Given the description of an element on the screen output the (x, y) to click on. 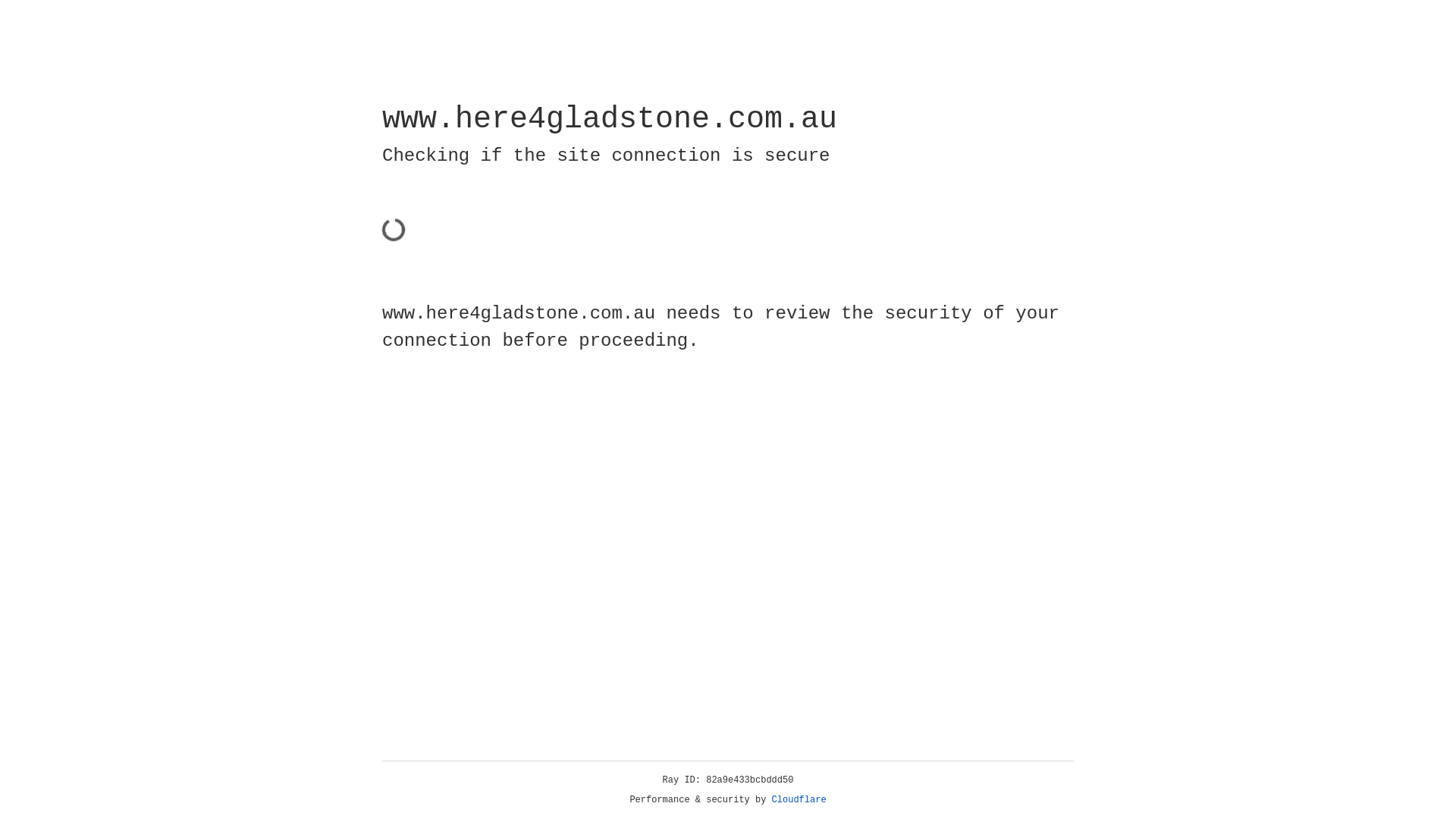
Cloudflare Element type: text (798, 799)
